Given the description of an element on the screen output the (x, y) to click on. 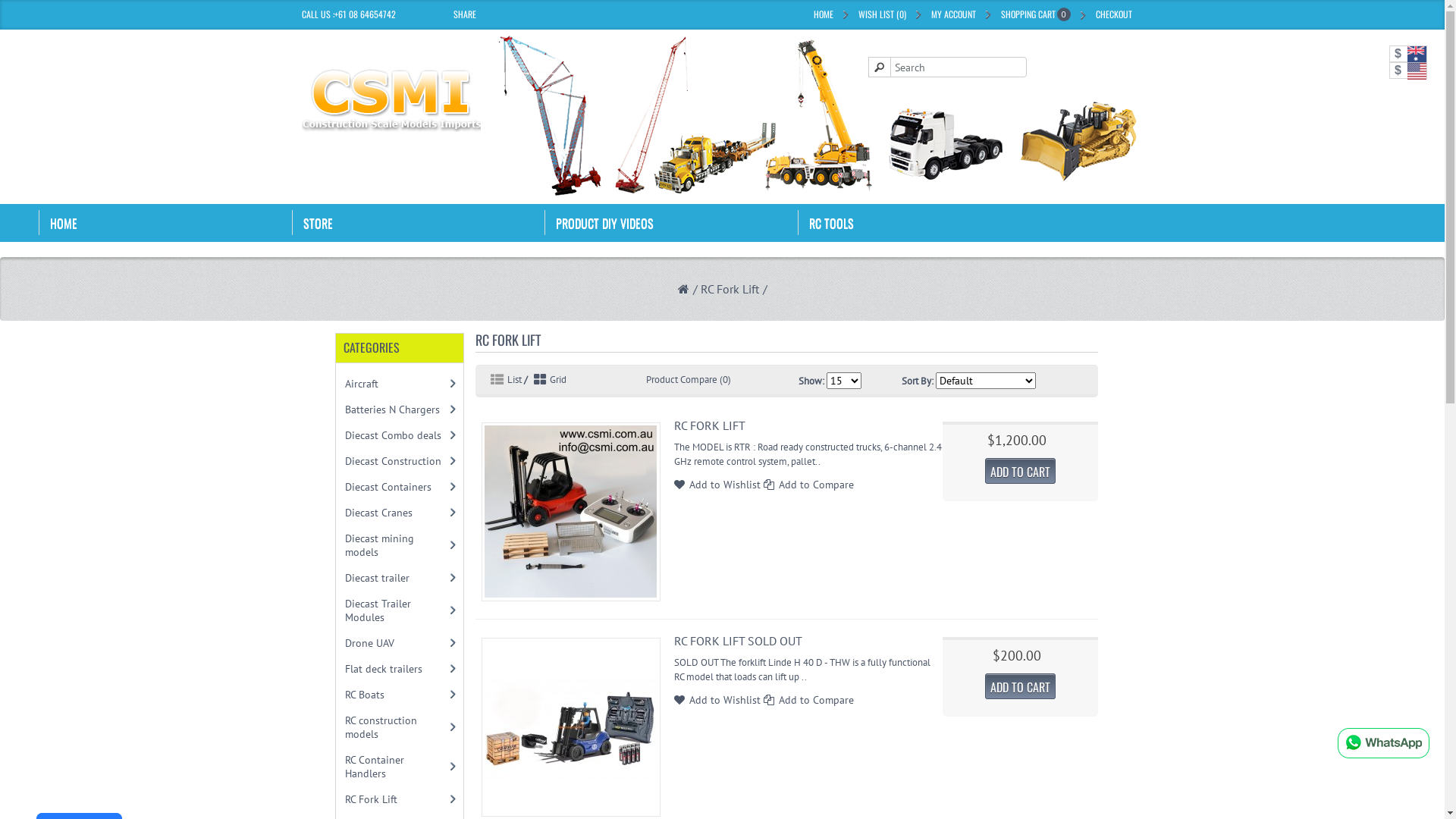
Aircraft Element type: text (395, 383)
MY ACCOUNT Element type: text (953, 13)
RC FORK LIFT Element type: text (709, 425)
RC Fork Lift Element type: text (731, 288)
$ Element type: text (1408, 70)
Diecast Trailer Modules Element type: text (395, 610)
Drone UAV Element type: text (395, 642)
RC Boats Element type: text (395, 694)
SHOPPING CART
0 Element type: text (1035, 13)
CALL US Element type: text (315, 13)
Diecast Cranes Element type: text (395, 512)
RC Container Handlers Element type: text (395, 766)
Diecast Containers Element type: text (395, 486)
Add to Wishlist Element type: text (724, 484)
HOME Element type: text (164, 222)
STORE Element type: text (418, 222)
RC Fork lift  SOLD OUT  Element type: hover (570, 726)
WISH LIST (0) Element type: text (882, 13)
ADD TO CART Element type: text (1020, 470)
Flat deck trailers Element type: text (395, 668)
RC FORK LIFT SOLD OUT Element type: text (738, 640)
RC construction models Element type: text (395, 726)
RC Fork lift  Element type: hover (570, 511)
CHECKOUT Element type: text (1113, 13)
RC TOOLS Element type: text (924, 222)
RC Fork Lift Element type: text (395, 799)
Grid Element type: text (548, 379)
Add to Compare Element type: text (815, 484)
ADD TO CART Element type: text (1020, 686)
HOME Element type: text (822, 13)
0 Element type: text (1062, 15)
Product Compare (0) Element type: text (688, 379)
$ Element type: text (1408, 53)
Batteries N Chargers Element type: text (395, 409)
Diecast mining models Element type: text (395, 544)
Add to Cart Element type: text (29, 32)
Diecast Construction Element type: text (395, 460)
Diecast trailer Element type: text (395, 577)
Add to Wishlist Element type: text (724, 699)
CSMI Element type: hover (390, 99)
PRODUCT DIY VIDEOS Element type: text (670, 222)
Diecast Combo deals Element type: text (395, 435)
Add to Compare Element type: text (815, 699)
